Given the description of an element on the screen output the (x, y) to click on. 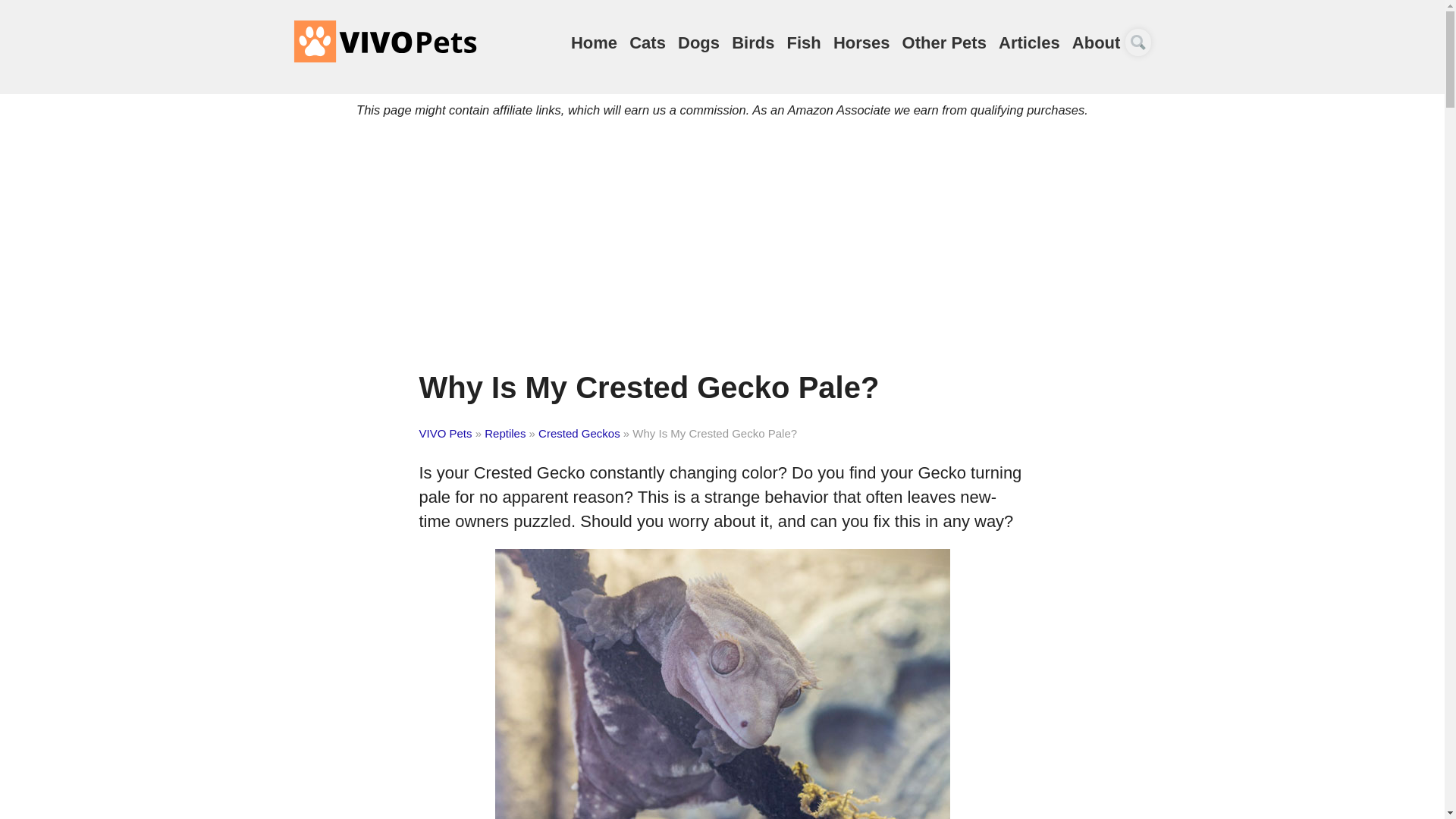
VIVO Pets (384, 41)
Birds (753, 42)
Home (593, 42)
Horses (860, 42)
Other Pets (944, 42)
Cats (646, 42)
Fish (804, 42)
Dogs (698, 42)
